Given the description of an element on the screen output the (x, y) to click on. 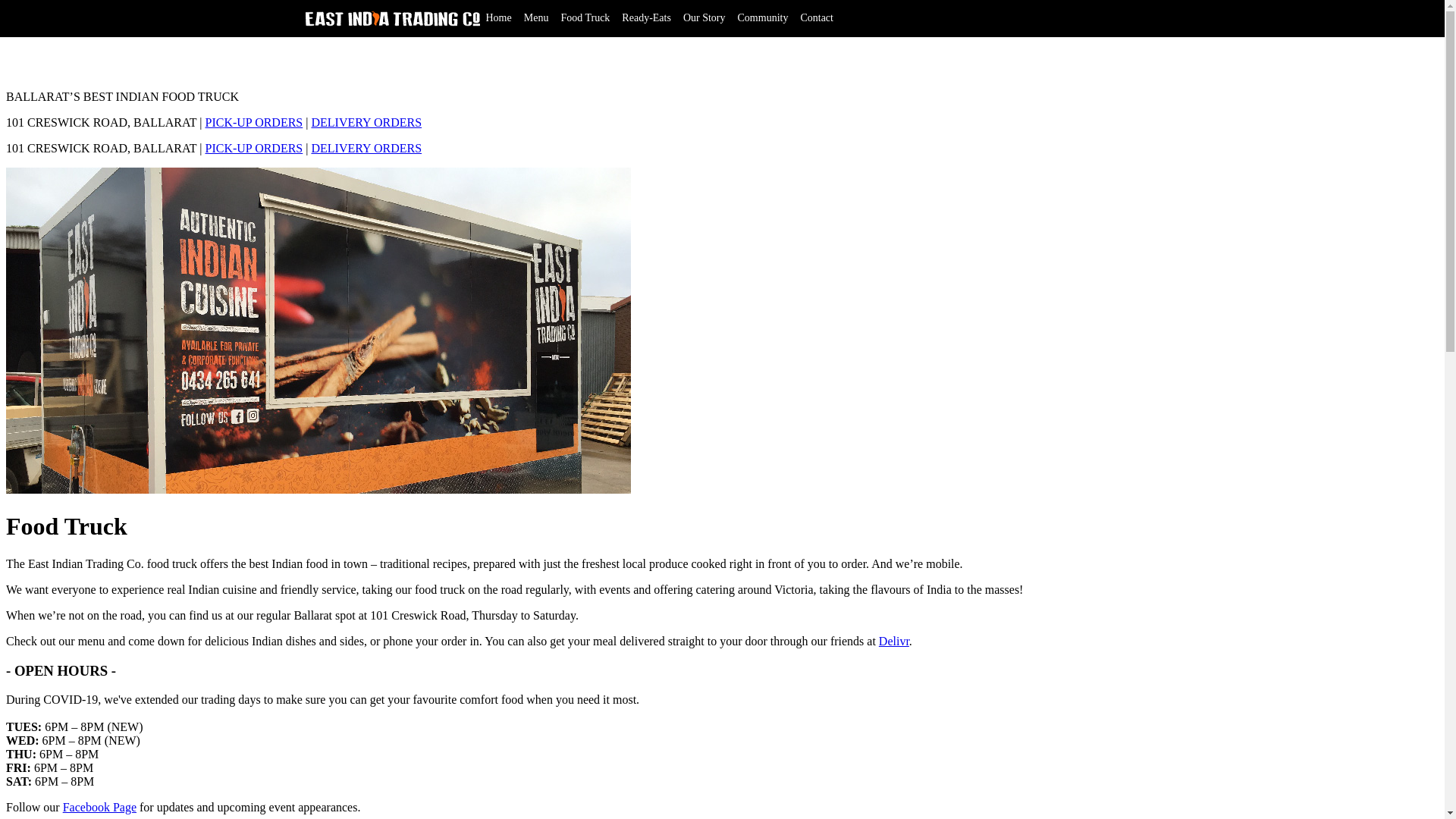
PICK-UP ORDERS Element type: text (253, 147)
Menu Element type: text (536, 17)
Food Truck Element type: text (584, 17)
Contact Element type: text (816, 17)
PICK-UP ORDERS Element type: text (253, 122)
DELIVERY ORDERS Element type: text (365, 147)
Delivr Element type: text (893, 640)
Community Element type: text (762, 17)
DELIVERY ORDERS Element type: text (365, 122)
Ready-Eats Element type: text (646, 17)
Home Element type: text (498, 17)
Facebook Page Element type: text (99, 806)
Our Story Element type: text (704, 17)
